Given the description of an element on the screen output the (x, y) to click on. 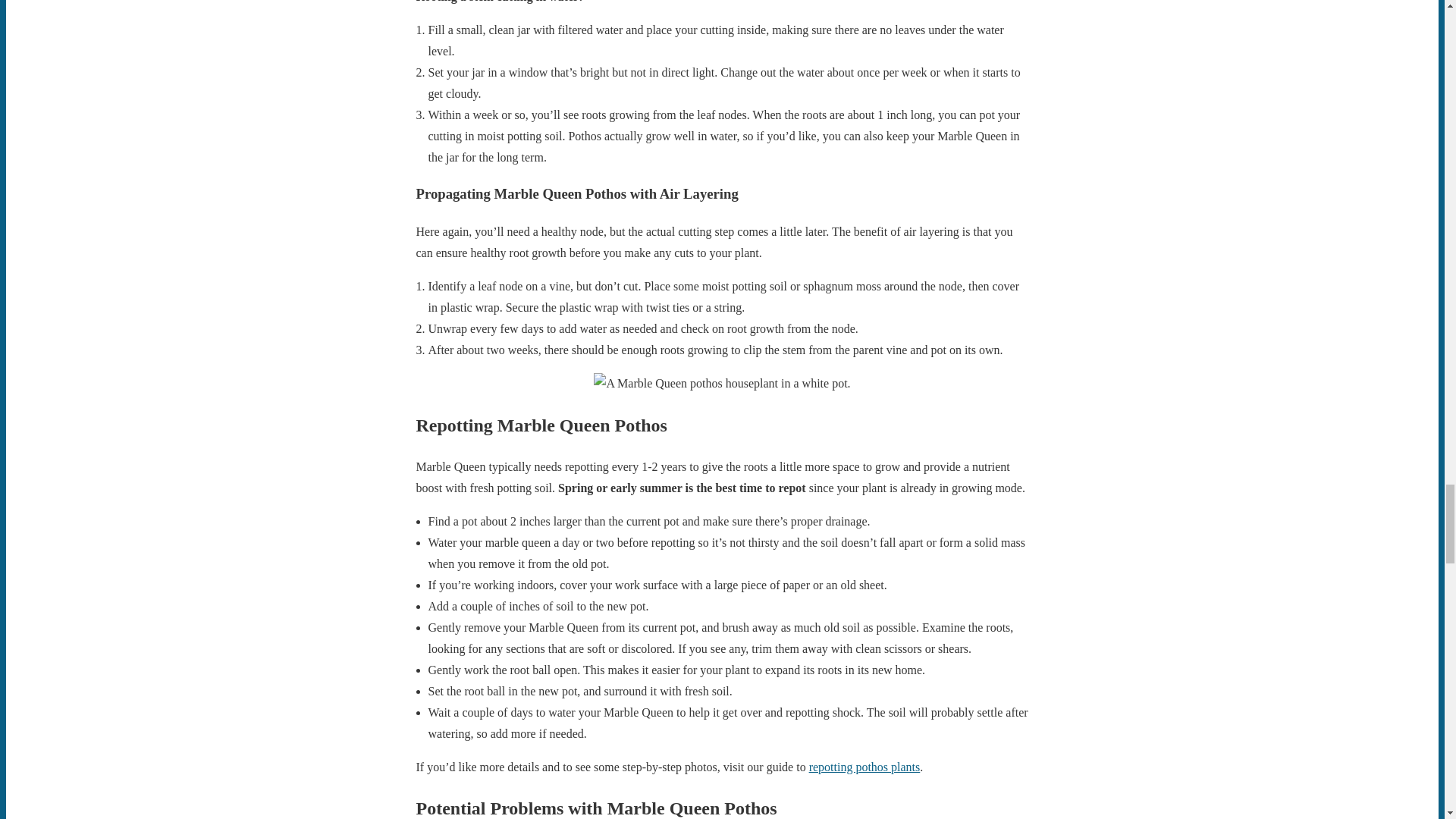
Marble Queen houseplant (722, 383)
repotting pothos plants (864, 766)
